Given the description of an element on the screen output the (x, y) to click on. 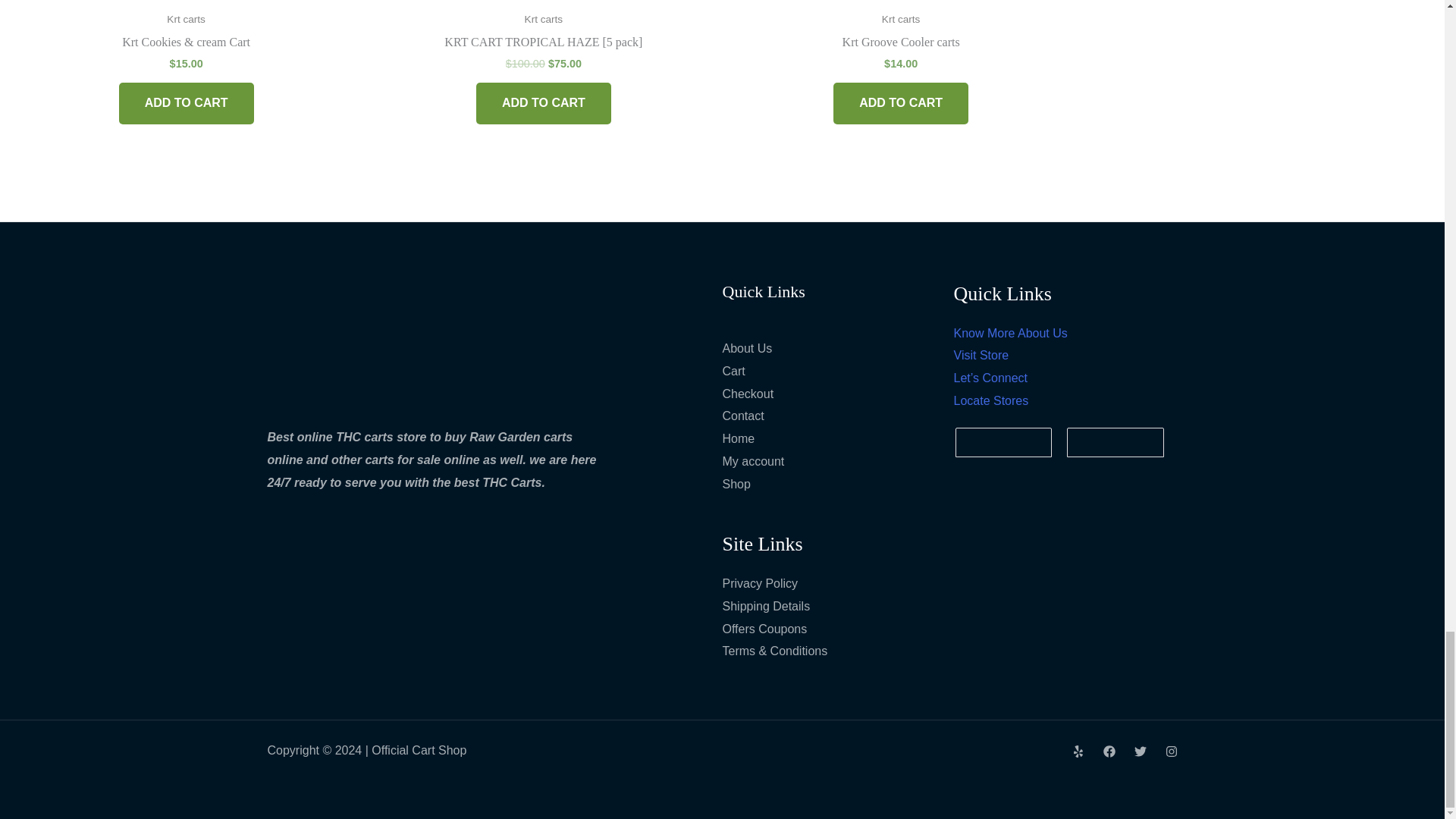
ADD TO CART (543, 103)
ADD TO CART (186, 103)
ADD TO CART (900, 103)
Krt Groove Cooler carts (900, 45)
